Given the description of an element on the screen output the (x, y) to click on. 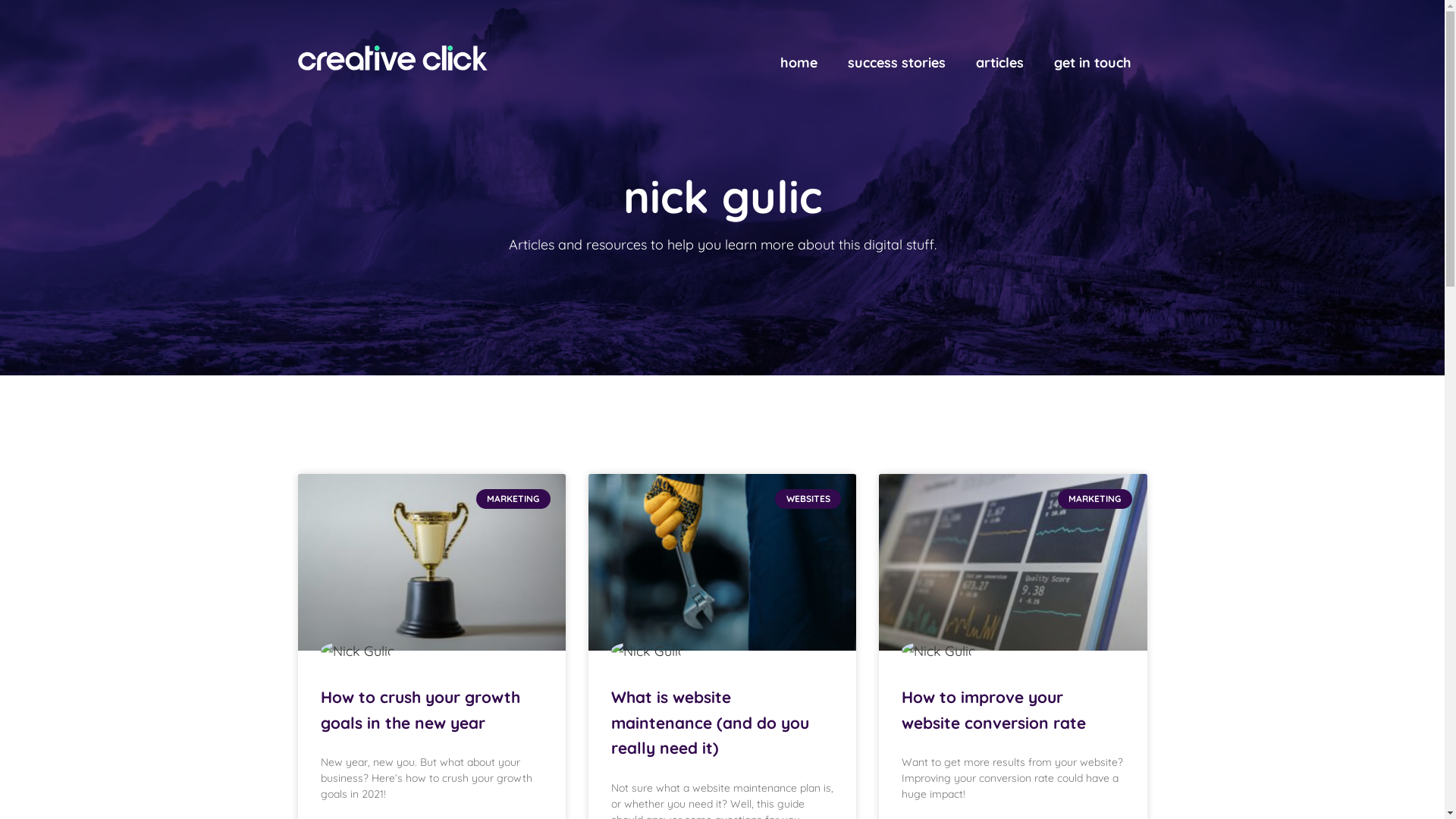
success stories Element type: text (896, 62)
get in touch Element type: text (1092, 62)
articles Element type: text (999, 62)
What is website maintenance (and do you really need it) Element type: text (710, 722)
How to crush your growth goals in the new year Element type: text (419, 709)
Creative Click Logo Element type: hover (391, 57)
How to improve your website conversion rate Element type: text (993, 709)
home Element type: text (798, 62)
